Given the description of an element on the screen output the (x, y) to click on. 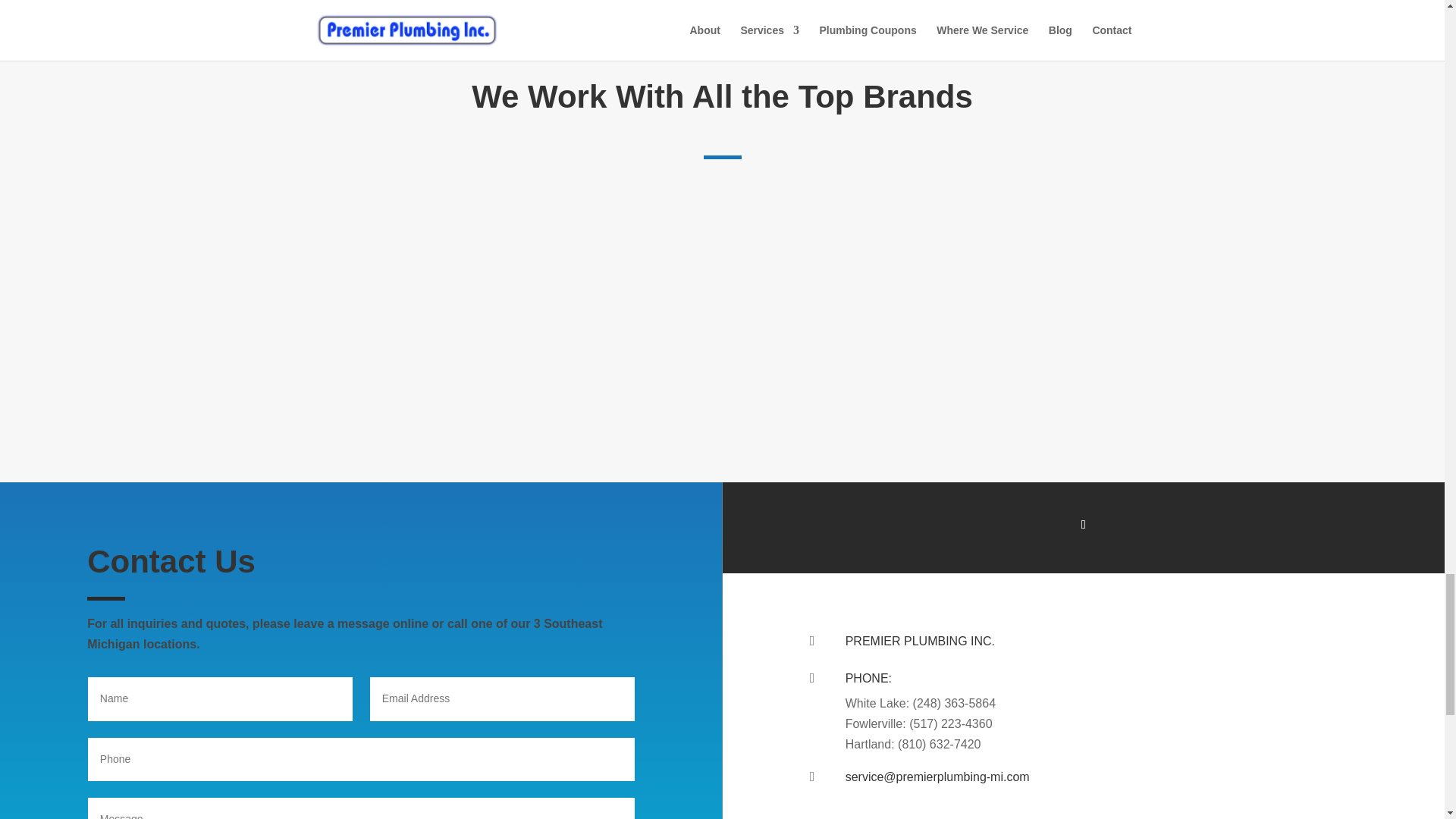
Follow on Facebook (1083, 524)
Only numbers allowed. (360, 759)
